Given the description of an element on the screen output the (x, y) to click on. 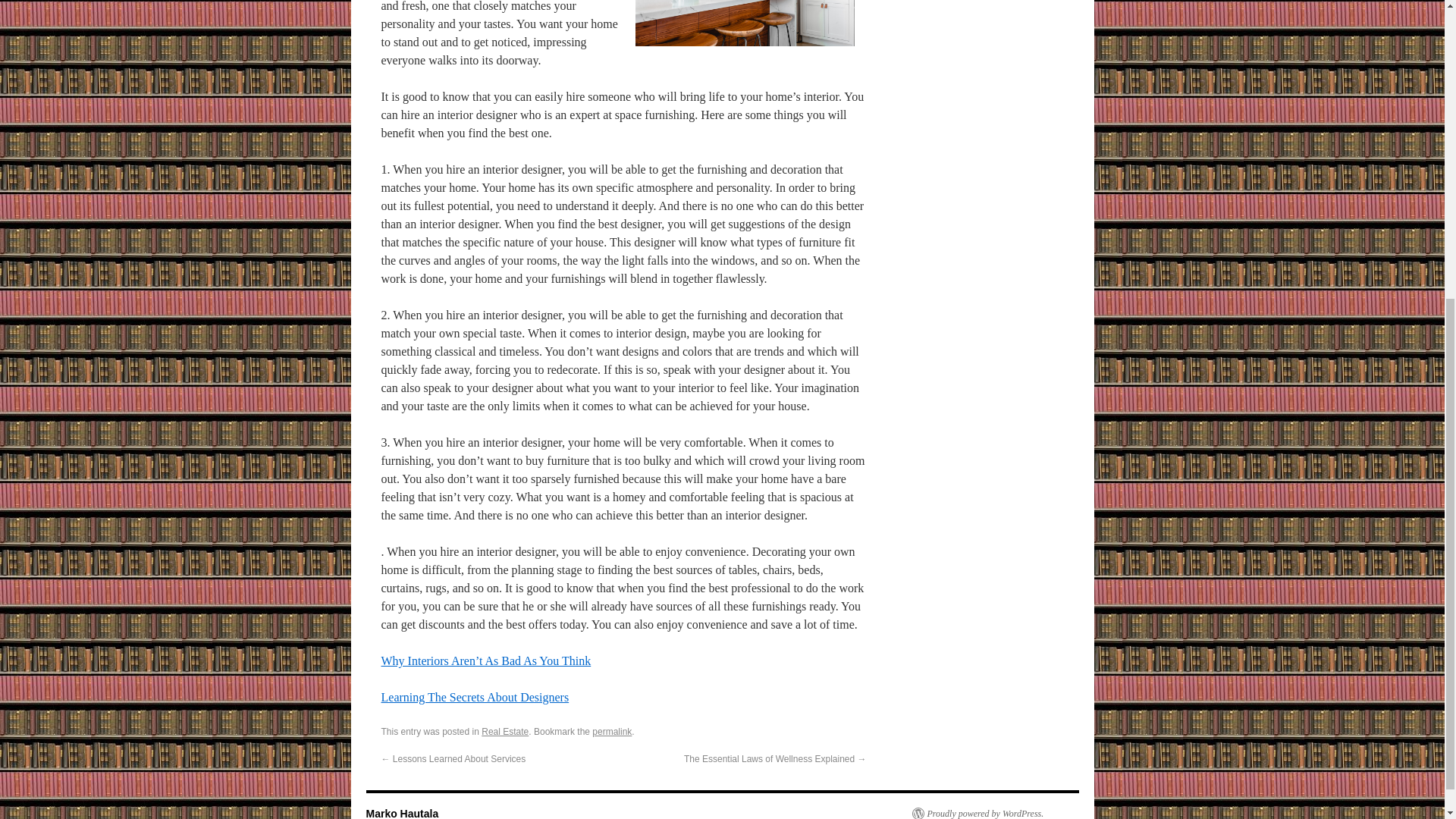
permalink (611, 731)
Learning The Secrets About Designers (474, 697)
Real Estate (504, 731)
Permalink to Learning The Secrets About Designers (611, 731)
